Given the description of an element on the screen output the (x, y) to click on. 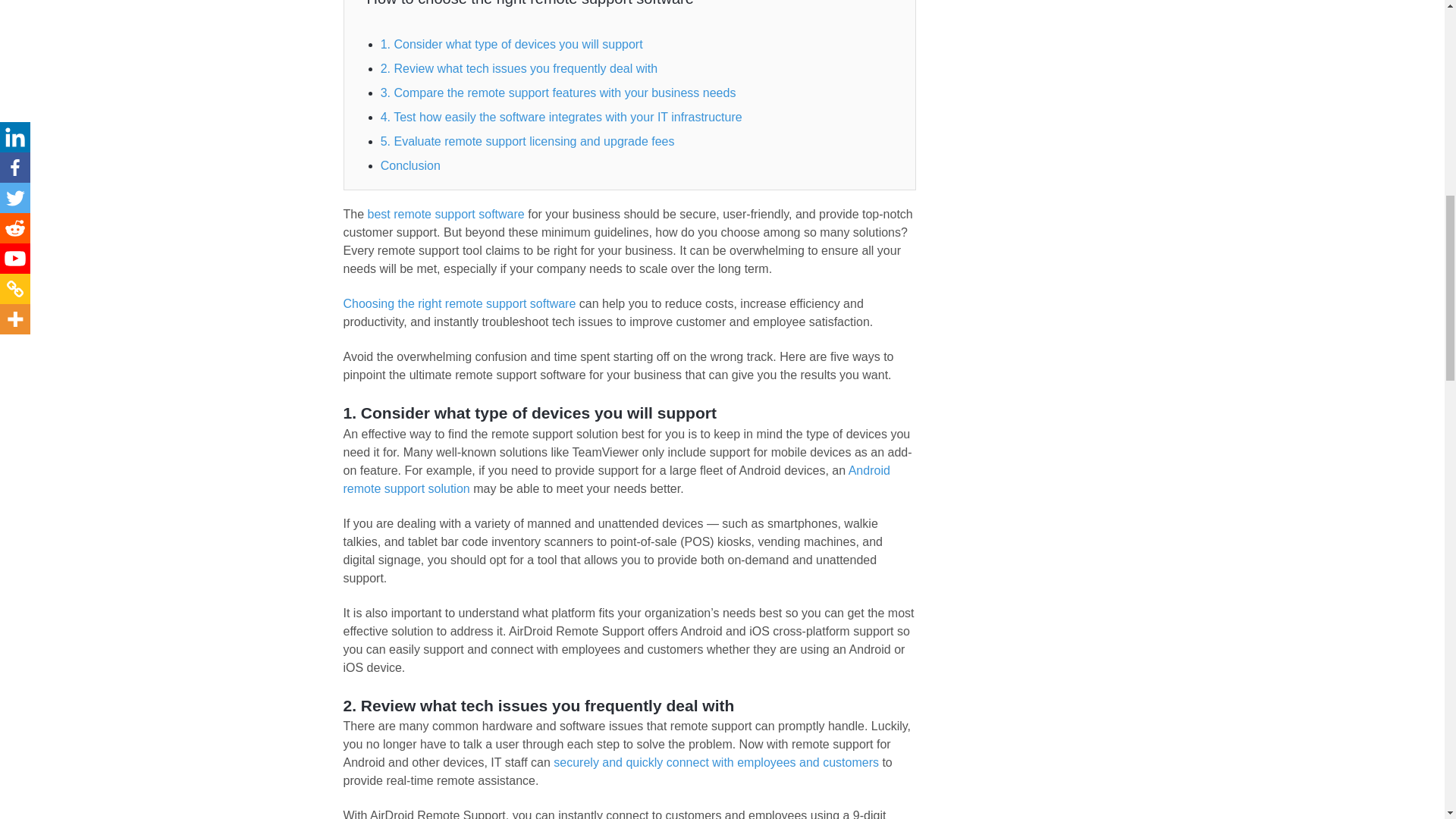
Android remote support solution (615, 479)
1. Consider what type of devices you will support (511, 43)
Conclusion (410, 164)
securely and quickly connect with employees and customers (716, 762)
best remote support software (446, 214)
5. Evaluate remote support licensing and upgrade fees  (529, 141)
2. Review what tech issues you frequently deal with (519, 68)
Choosing the right remote support software (458, 303)
